Given the description of an element on the screen output the (x, y) to click on. 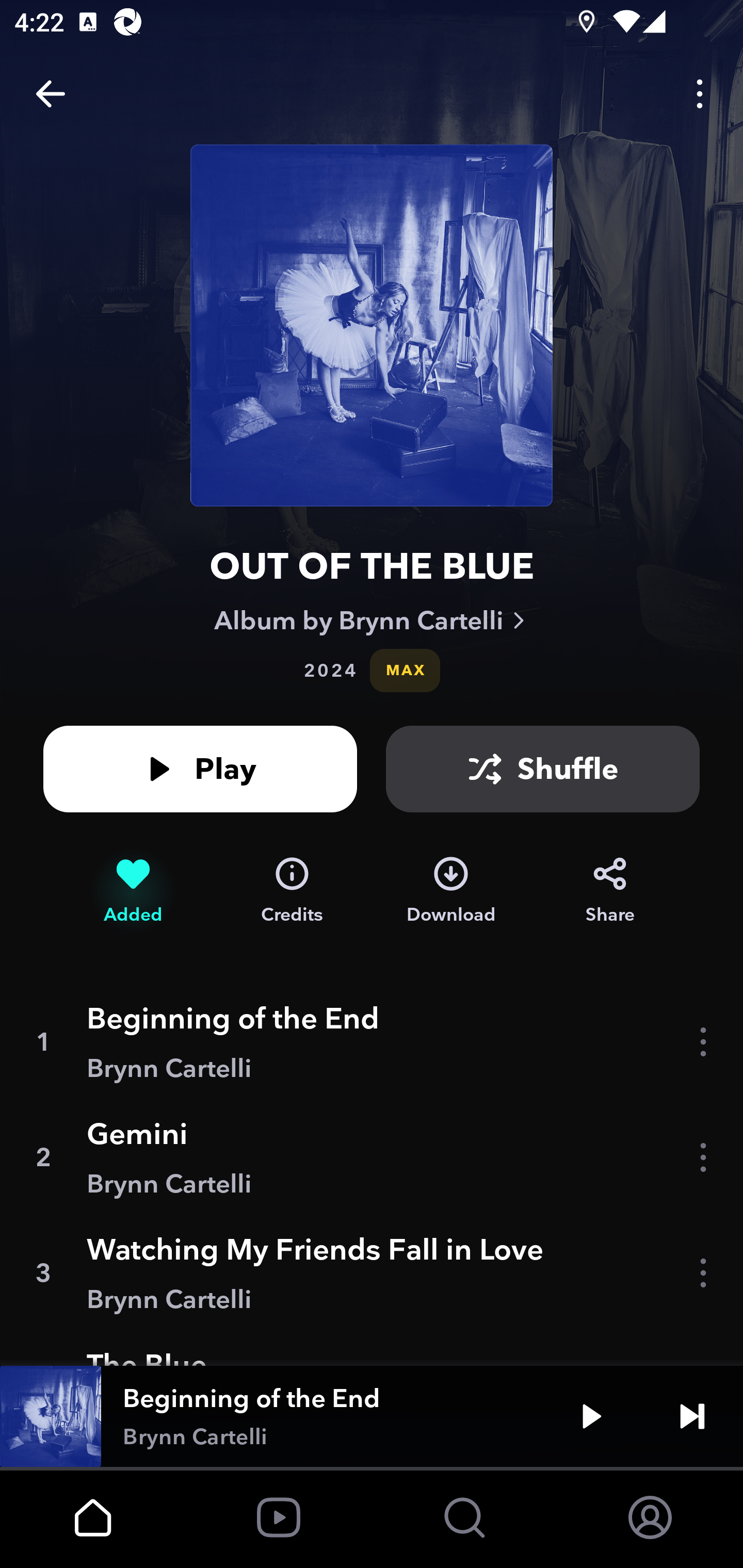
Options (699, 93)
OUT OF THE BLUE (371, 565)
Album by Brynn Cartelli (371, 619)
Play (200, 768)
Shuffle (542, 768)
Remove from My Collection Added (132, 890)
Credits (291, 890)
Download (450, 890)
Share (609, 890)
1 Beginning of the End Brynn Cartelli (371, 1041)
2 Gemini Brynn Cartelli (371, 1157)
3 Watching My Friends Fall in Love Brynn Cartelli (371, 1273)
Beginning of the End Brynn Cartelli Play (371, 1416)
Play (590, 1416)
